Given the description of an element on the screen output the (x, y) to click on. 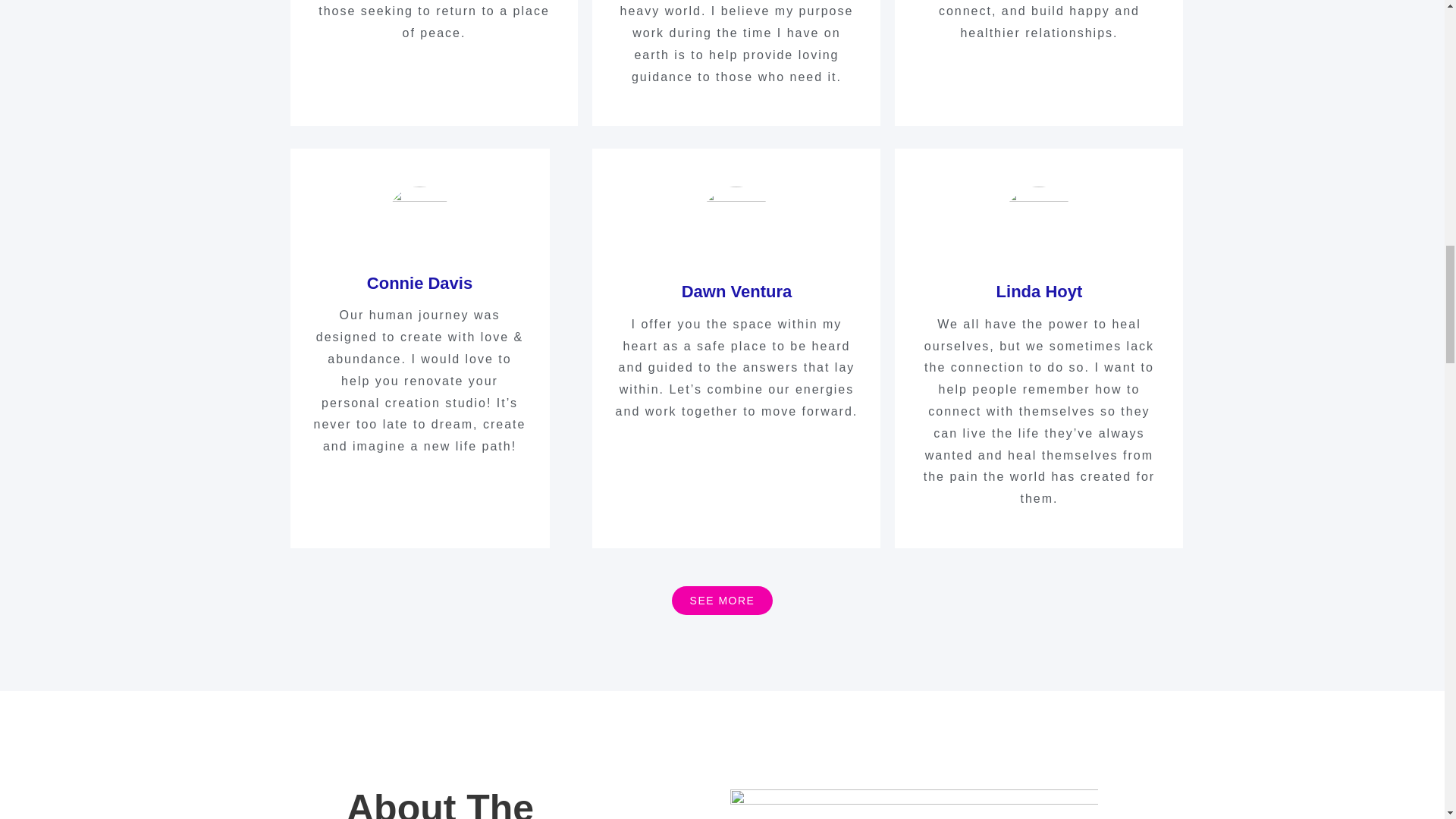
SEE MORE (722, 600)
